Given the description of an element on the screen output the (x, y) to click on. 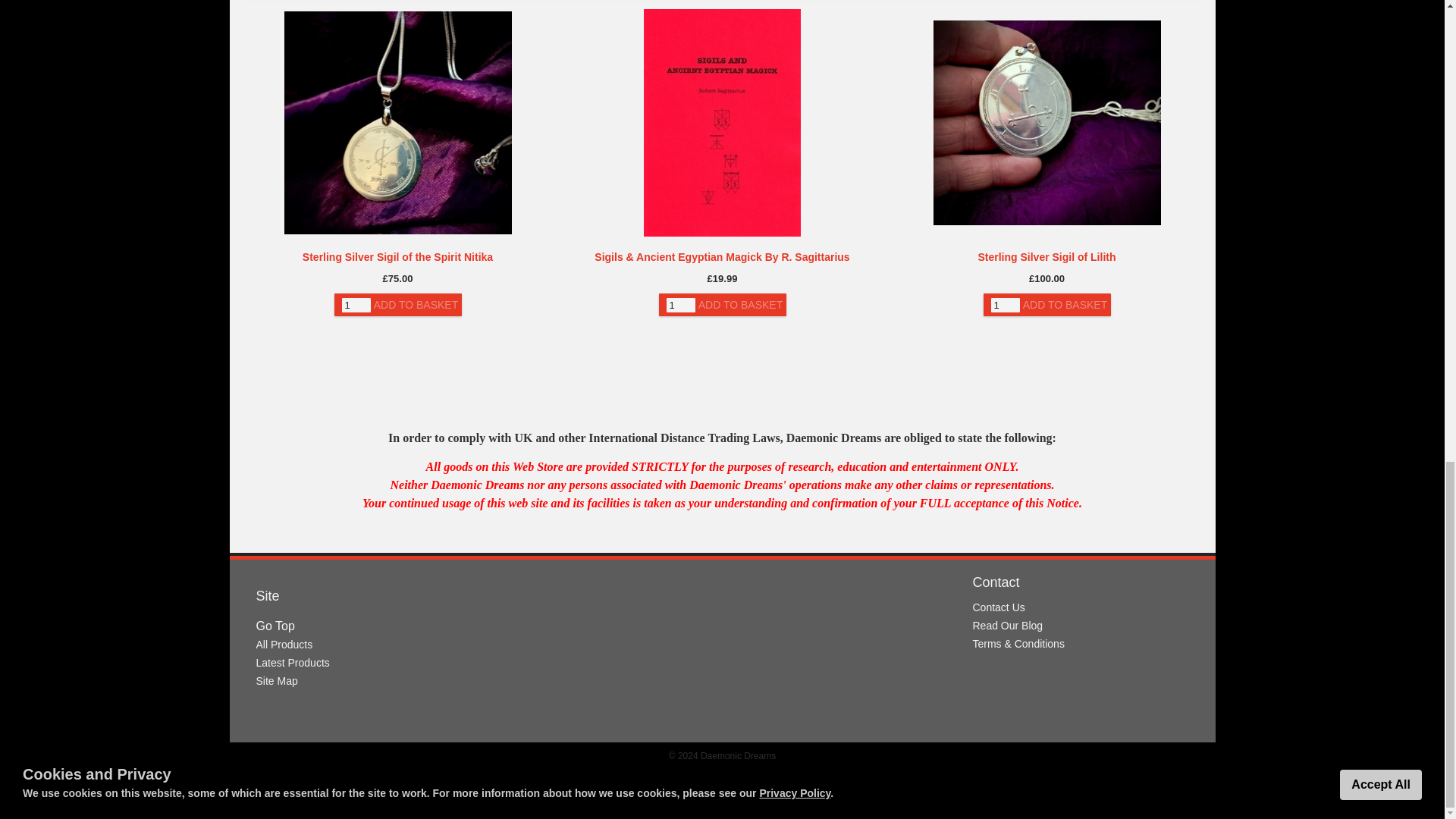
Latest Products (293, 662)
1 (354, 305)
Read Our Blog (1007, 625)
All Products (284, 644)
Contact Us (998, 607)
1 (679, 305)
ADD TO BASKET (415, 304)
Sterling Silver Sigil of the Spirit Nitika (397, 256)
ADD TO BASKET (1064, 304)
1 (1004, 305)
Site Map (277, 680)
Go Top (275, 625)
ADD TO BASKET (740, 304)
Sterling Silver Sigil of Lilith (1045, 256)
